Given the description of an element on the screen output the (x, y) to click on. 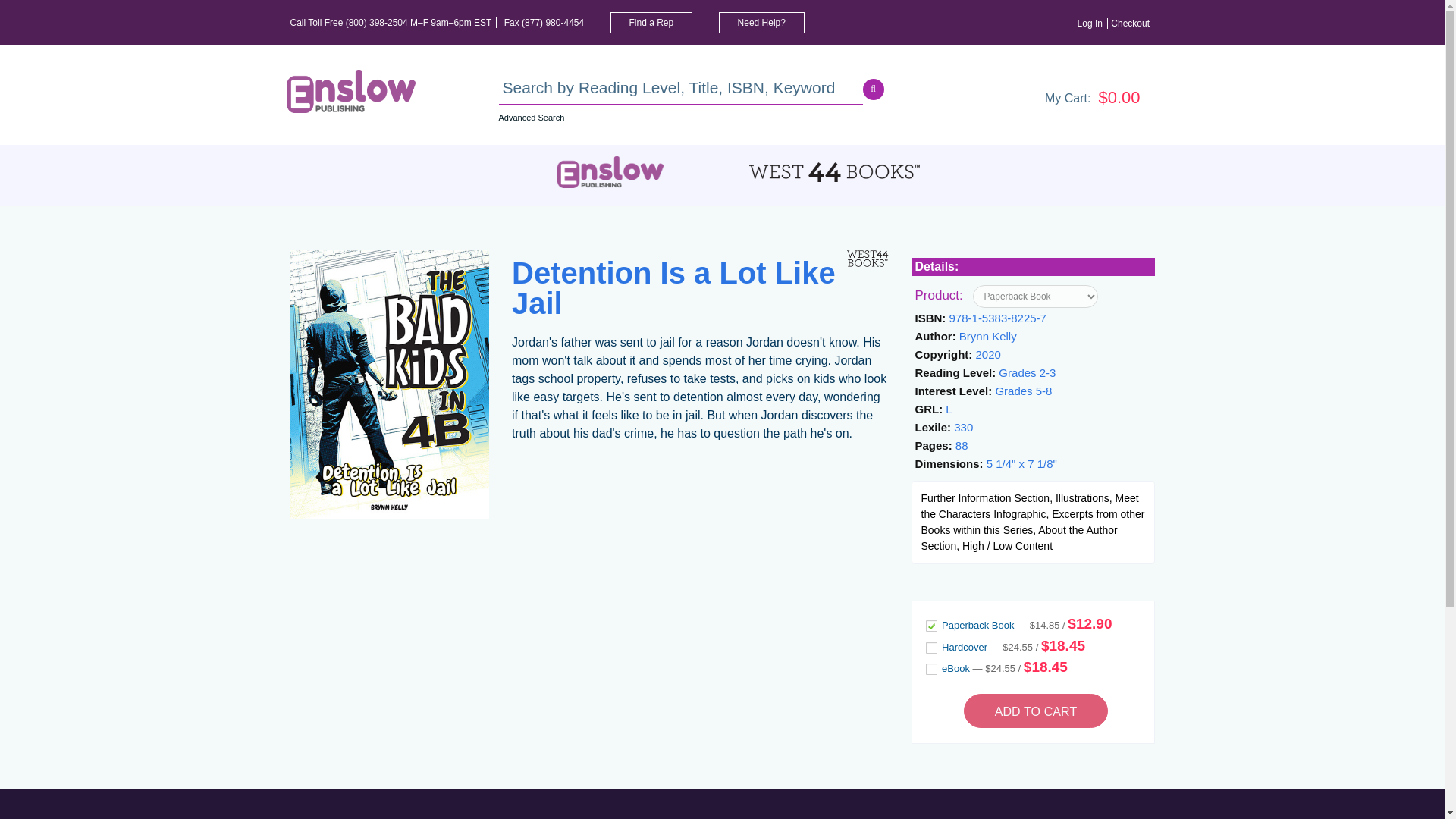
Checkout (1132, 23)
Log In (1092, 23)
Advanced Search (531, 117)
Add to cart (1035, 709)
Find a Rep (651, 22)
Need Help? (762, 22)
Add to cart (1035, 709)
